Given the description of an element on the screen output the (x, y) to click on. 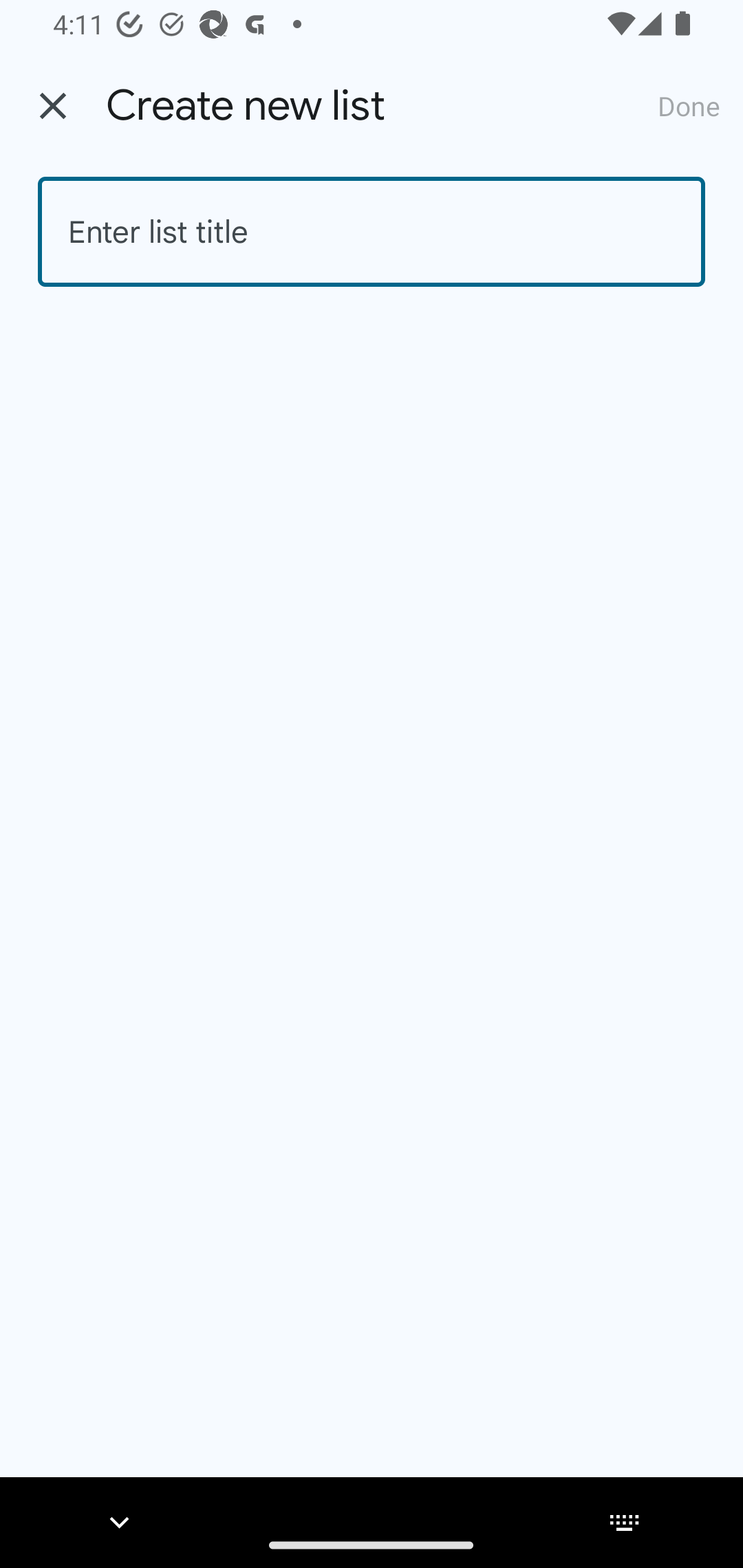
Back (53, 105)
Done (689, 105)
Enter list title (371, 231)
